Given the description of an element on the screen output the (x, y) to click on. 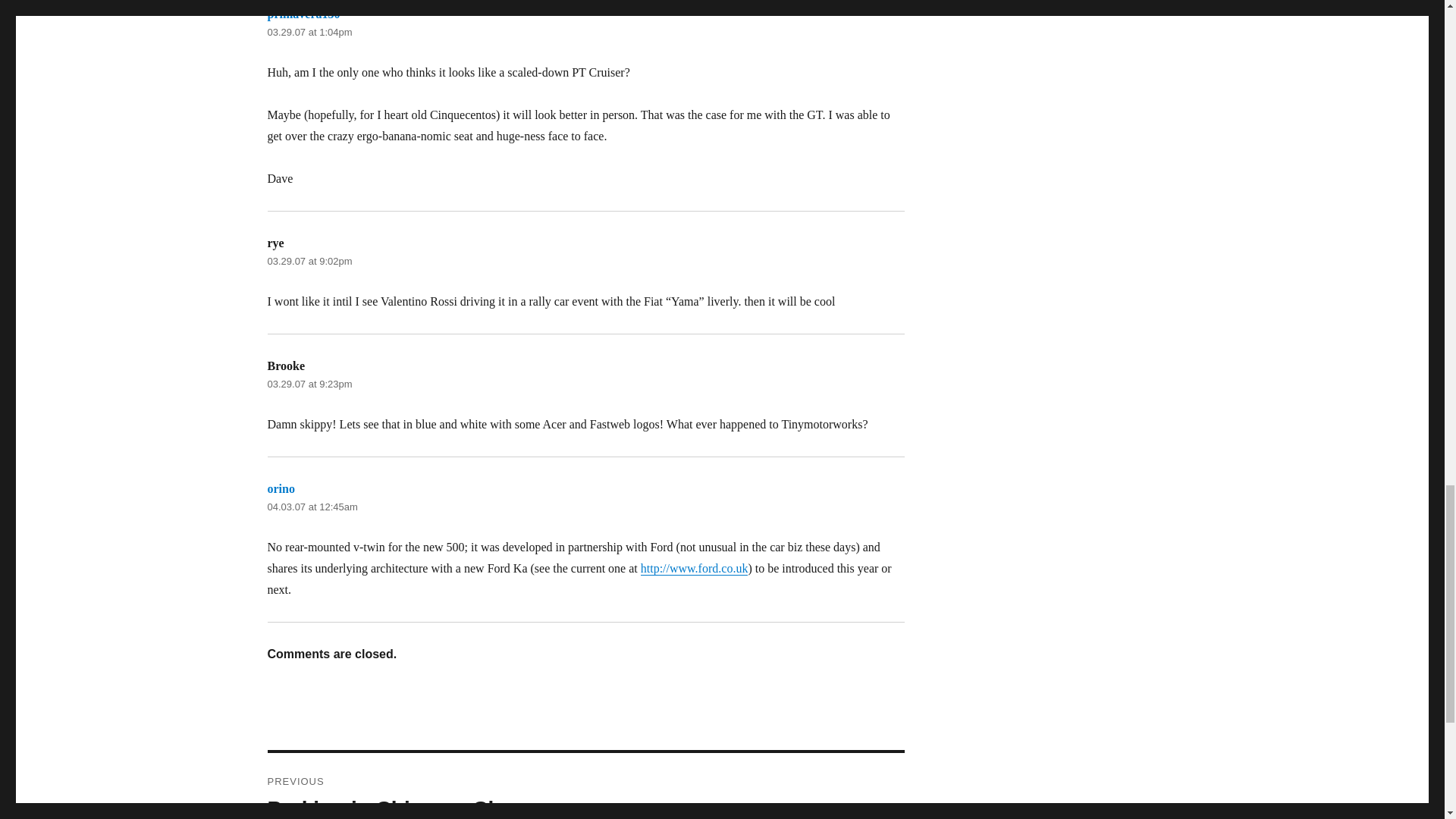
03.29.07 at 9:23pm (309, 383)
03.29.07 at 1:04pm (309, 31)
primavera130 (302, 13)
04.03.07 at 12:45am (311, 506)
orino (585, 785)
03.29.07 at 9:02pm (280, 488)
